Given the description of an element on the screen output the (x, y) to click on. 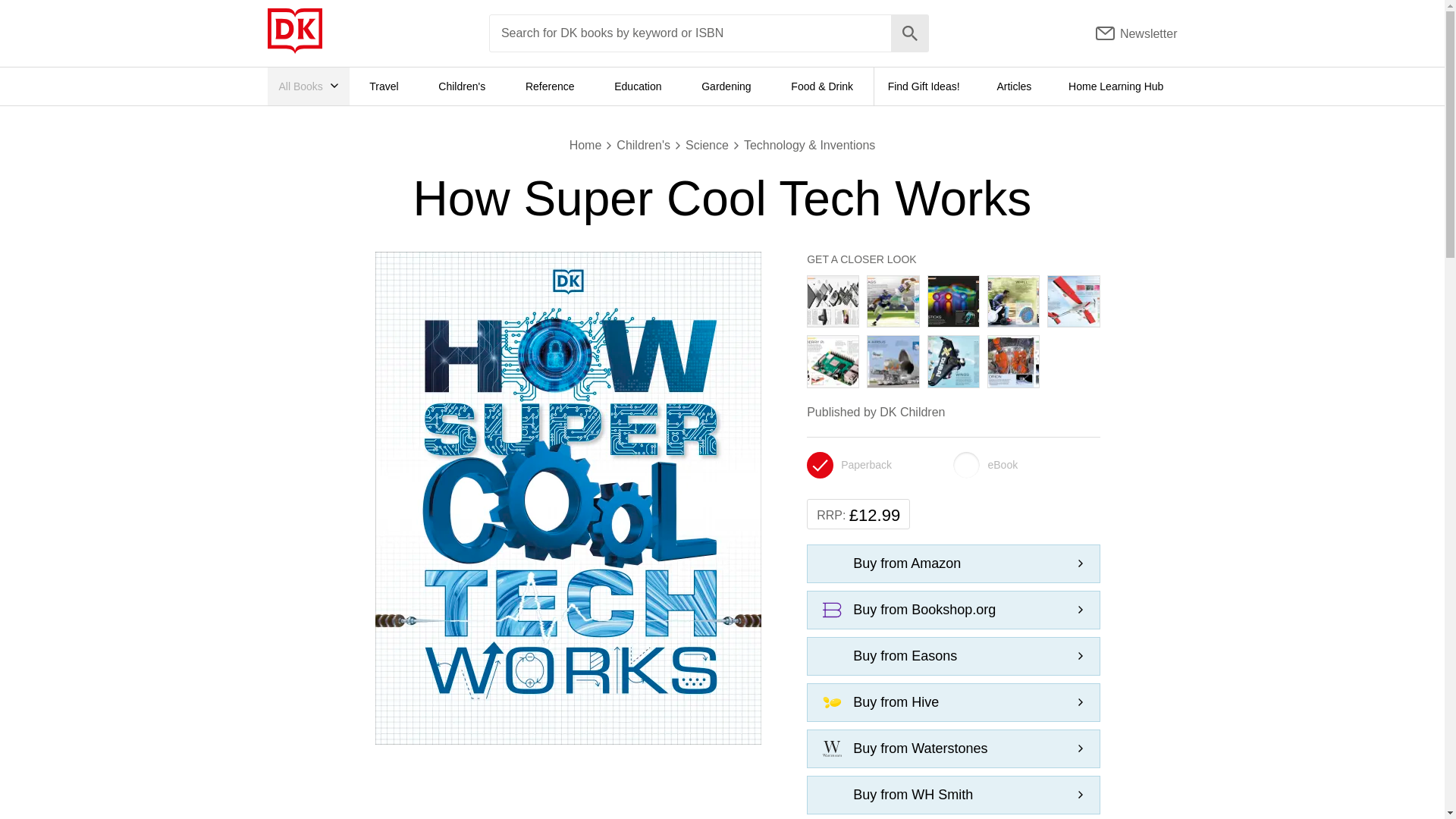
How Super Cool Tech Works - thumbnail of spread image 9 (1013, 360)
How Super Cool Tech Works - thumbnail of spread image 5 (1073, 301)
All Books (307, 86)
How Super Cool Tech Works - thumbnail of spread image 3 (953, 301)
Education (637, 86)
How Super Cool Tech Works - thumbnail of spread image 6 (833, 360)
Buy How Super Cool Tech Works from Bookshop.org (953, 609)
Newsletter (1136, 33)
Gardening (726, 86)
How Super Cool Tech Works - thumbnail of spread image 2 (892, 301)
